Given the description of an element on the screen output the (x, y) to click on. 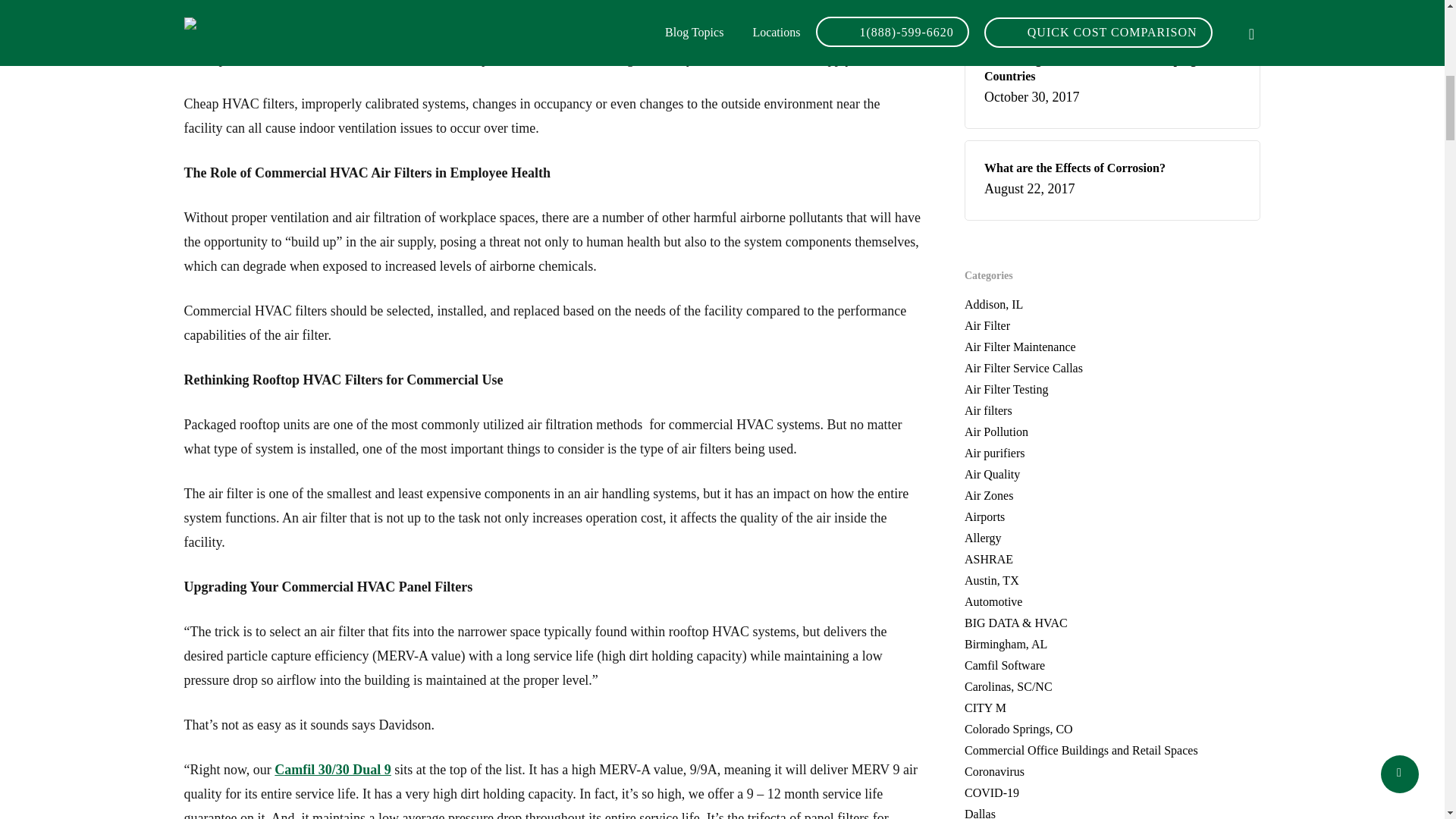
Camfil USA (367, 34)
